Given the description of an element on the screen output the (x, y) to click on. 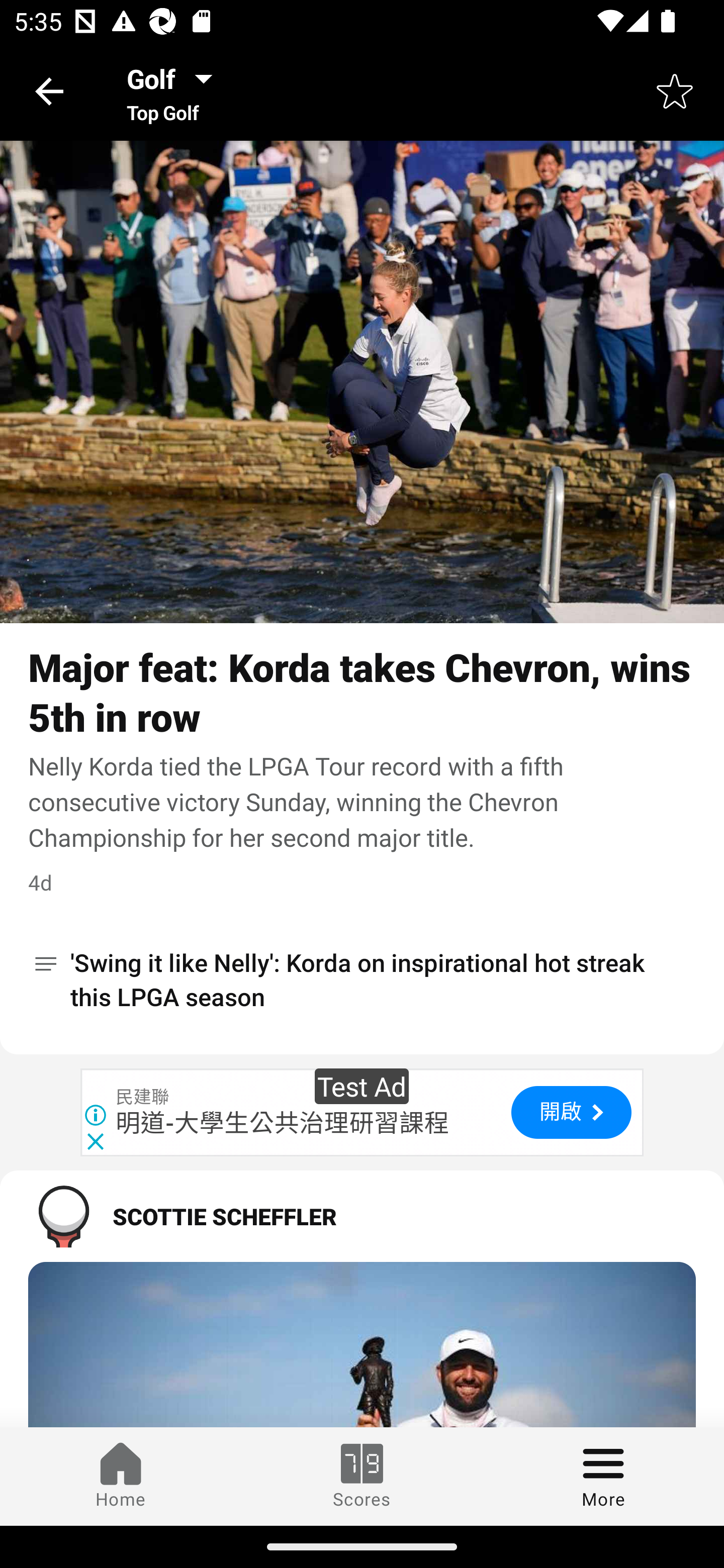
Golf Top Golf (175, 90)
Favorite toggle (674, 90)
民建聯 (142, 1097)
開啟 (570, 1112)
明道-大學生公共治理研習課程 (282, 1122)
SCOTTIE SCHEFFLER (362, 1215)
Home (120, 1475)
Scores (361, 1475)
